Given the description of an element on the screen output the (x, y) to click on. 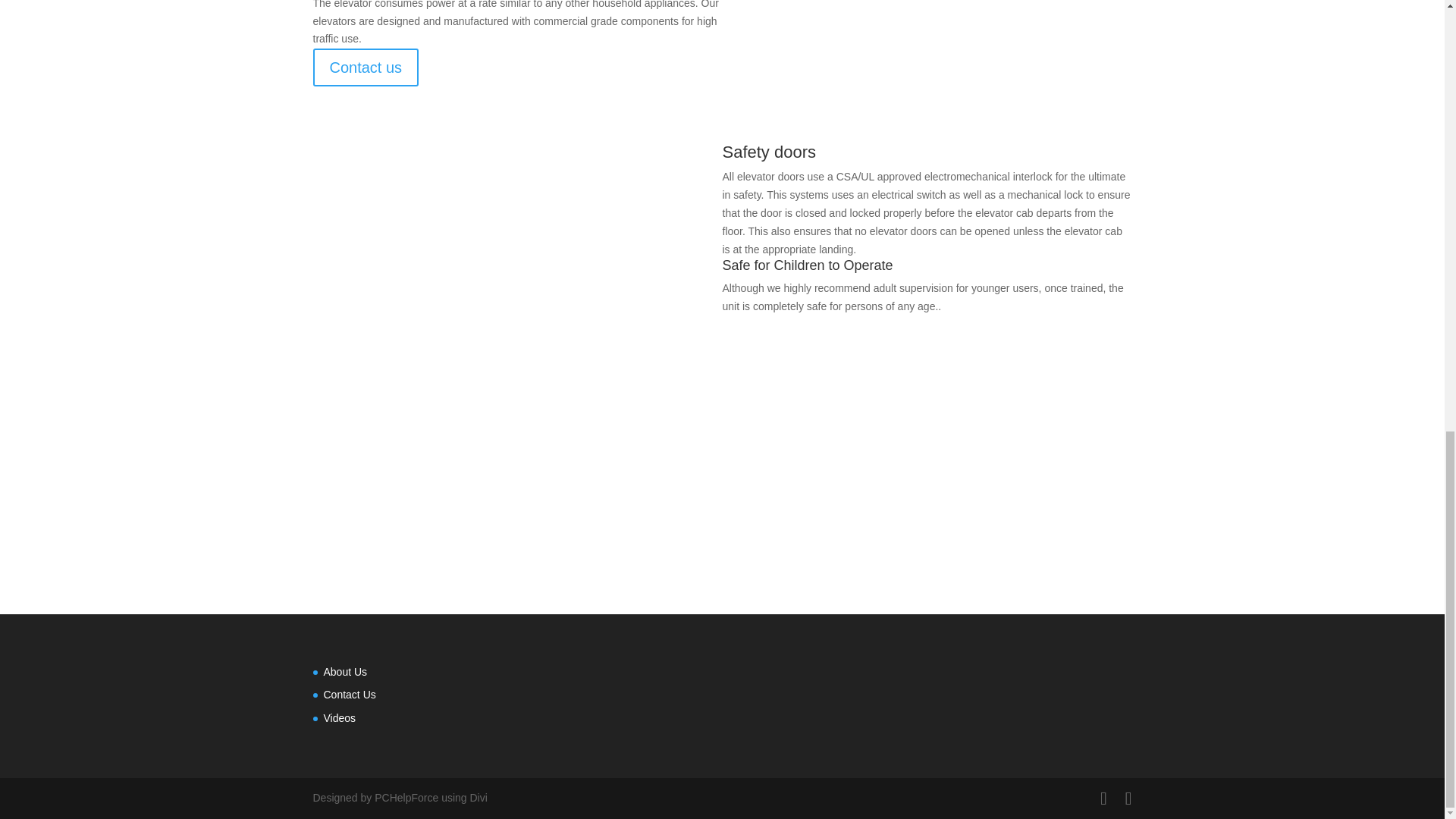
About Us (344, 671)
Contact us (366, 67)
Contact Us (349, 694)
Videos (339, 717)
Citations (722, 507)
